Given the description of an element on the screen output the (x, y) to click on. 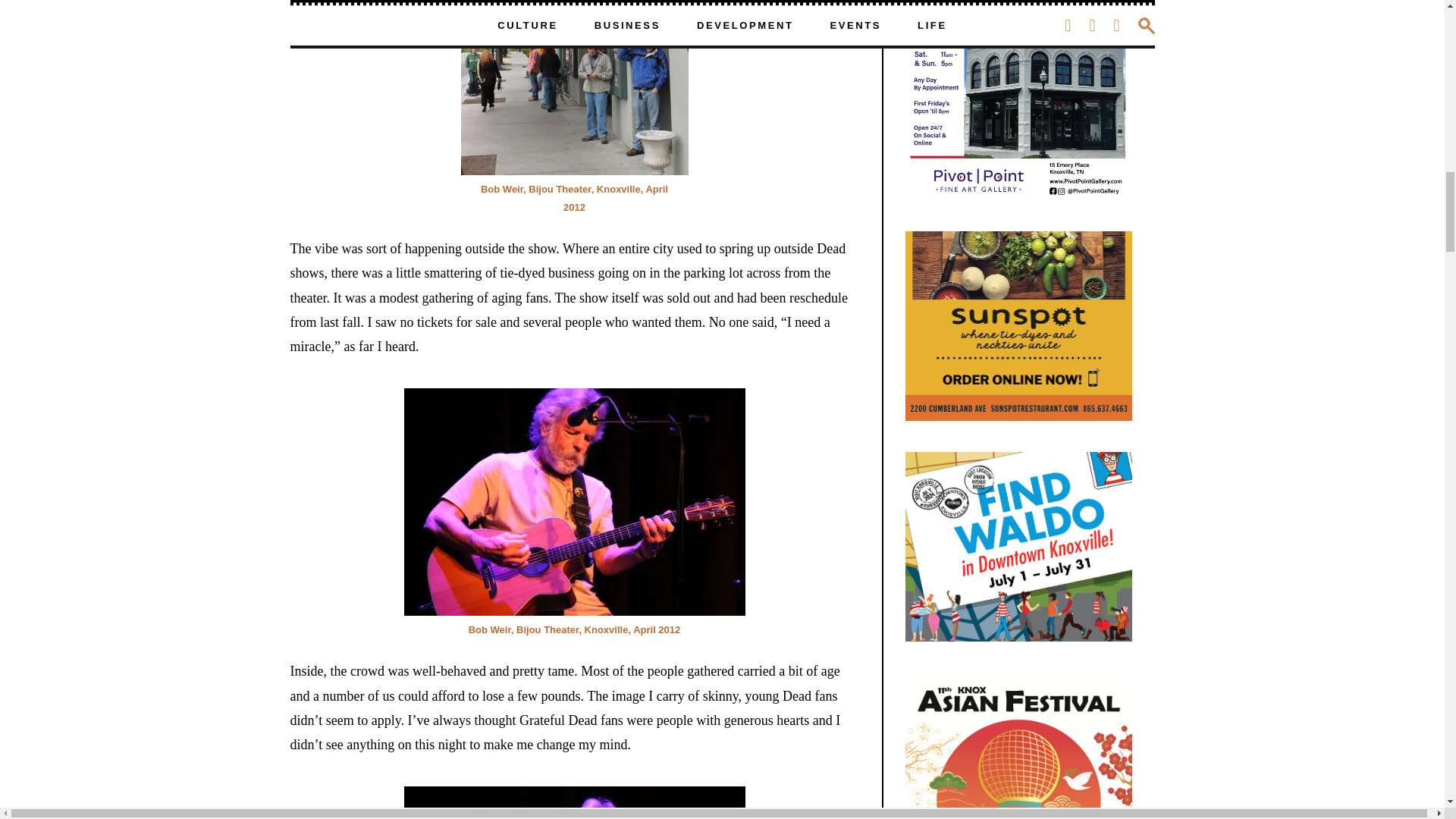
Bob Weir4, Bijou Theater, Knoxville, April 2012 (573, 501)
Bob Weir3, Bijou Theater, Knoxville, April 2012 (574, 87)
Bob Weir5, Bijou Theater, Knoxville, April 2012 (573, 802)
